Given the description of an element on the screen output the (x, y) to click on. 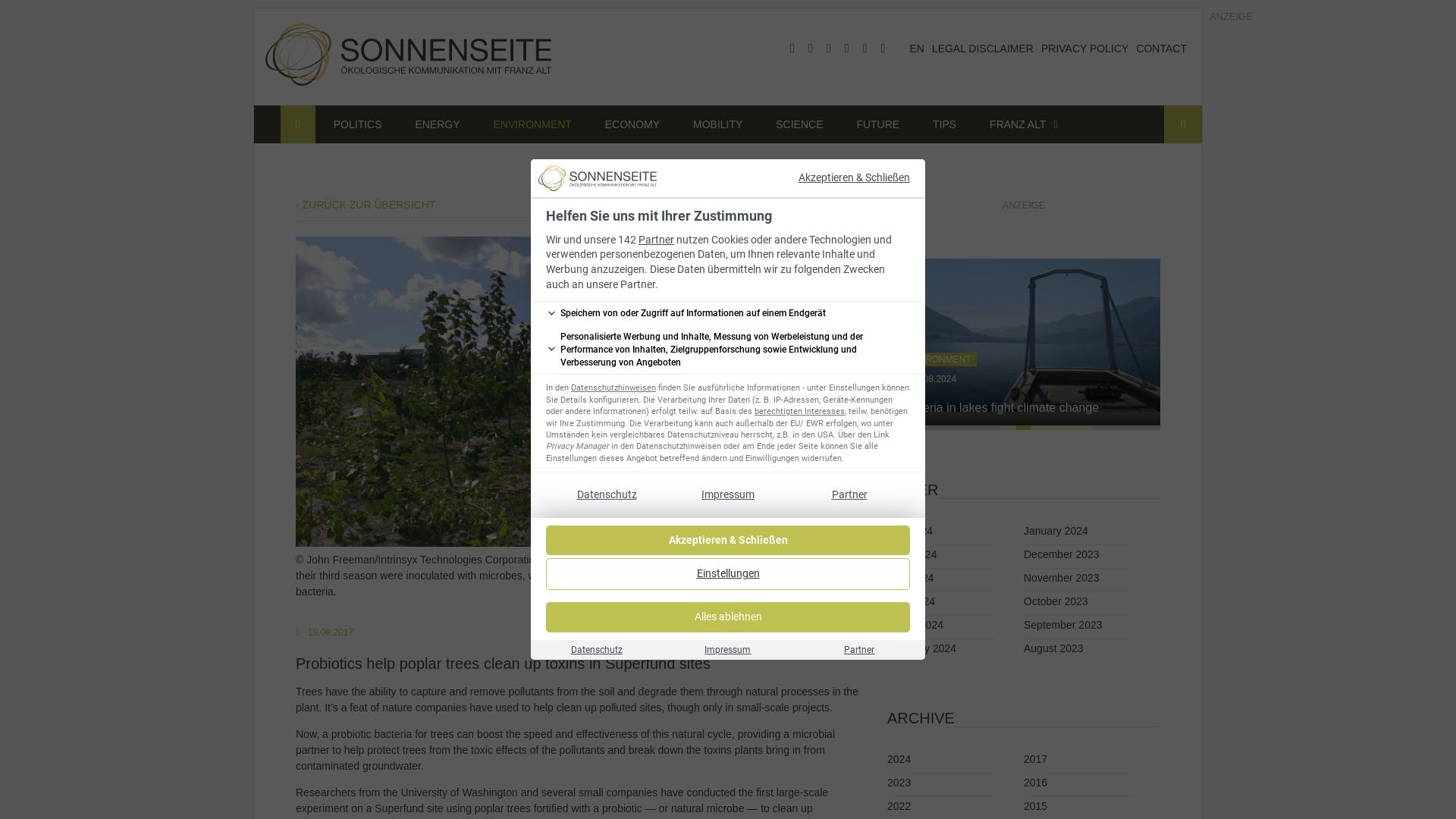
facebook (791, 48)
PRIVACY POLICY (1084, 48)
CONTACT (1160, 48)
ENERGY (436, 124)
Search (1182, 124)
FRANZ ALT (1017, 124)
ECONOMY (632, 124)
TIPS (944, 124)
youtube (828, 48)
xing (864, 48)
